Given the description of an element on the screen output the (x, y) to click on. 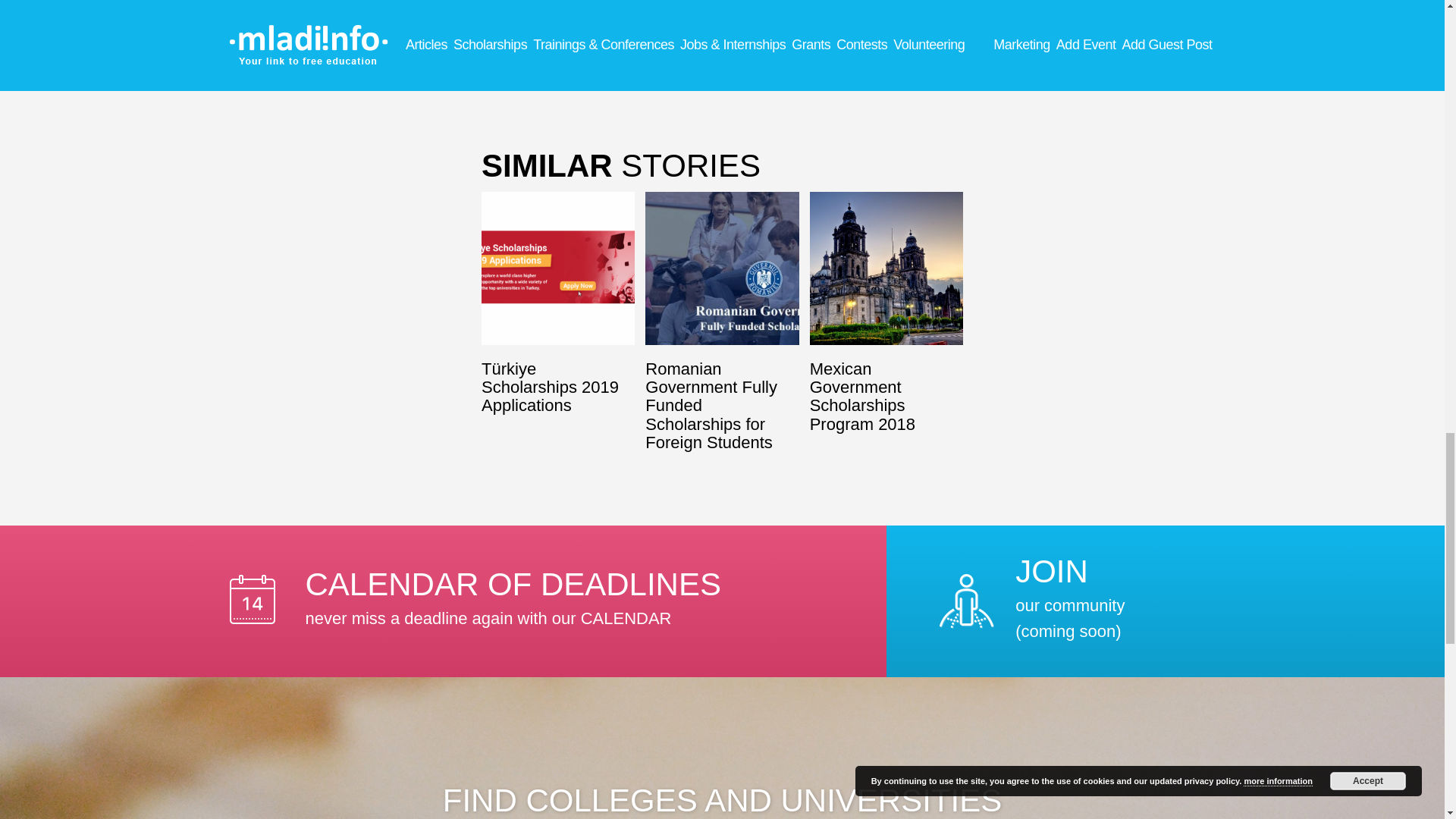
Share on Facebook (626, 62)
Mexican Government Scholarships Program 2018 (626, 62)
TWEET (885, 267)
Save to read later on Pocket (530, 62)
Submit to Reddit (843, 62)
Tweet on Twitter (699, 62)
Share on Linkedin (530, 62)
